Given the description of an element on the screen output the (x, y) to click on. 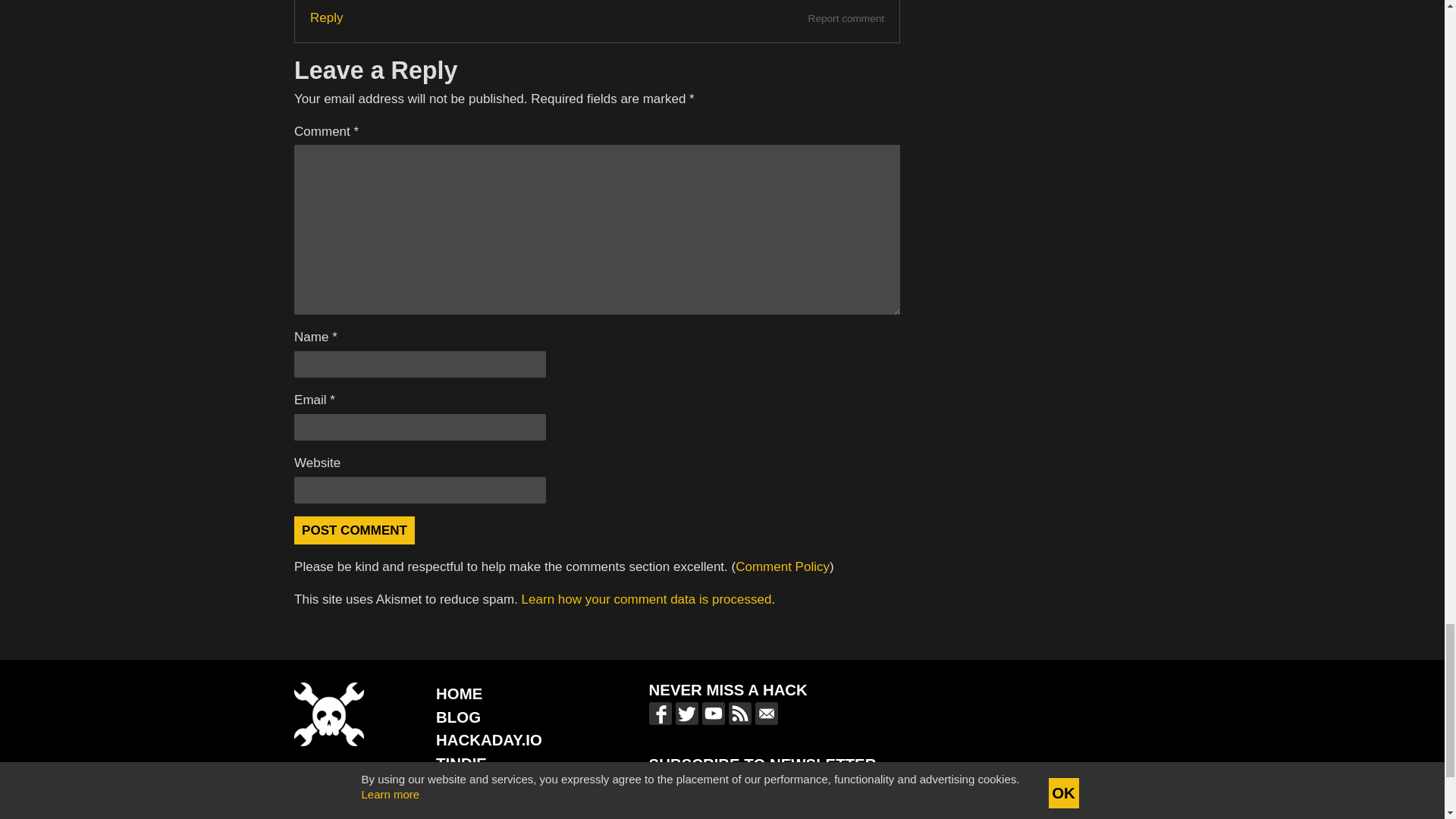
Build Something that Matters (503, 786)
Subscribe (874, 789)
Post Comment (354, 530)
